Given the description of an element on the screen output the (x, y) to click on. 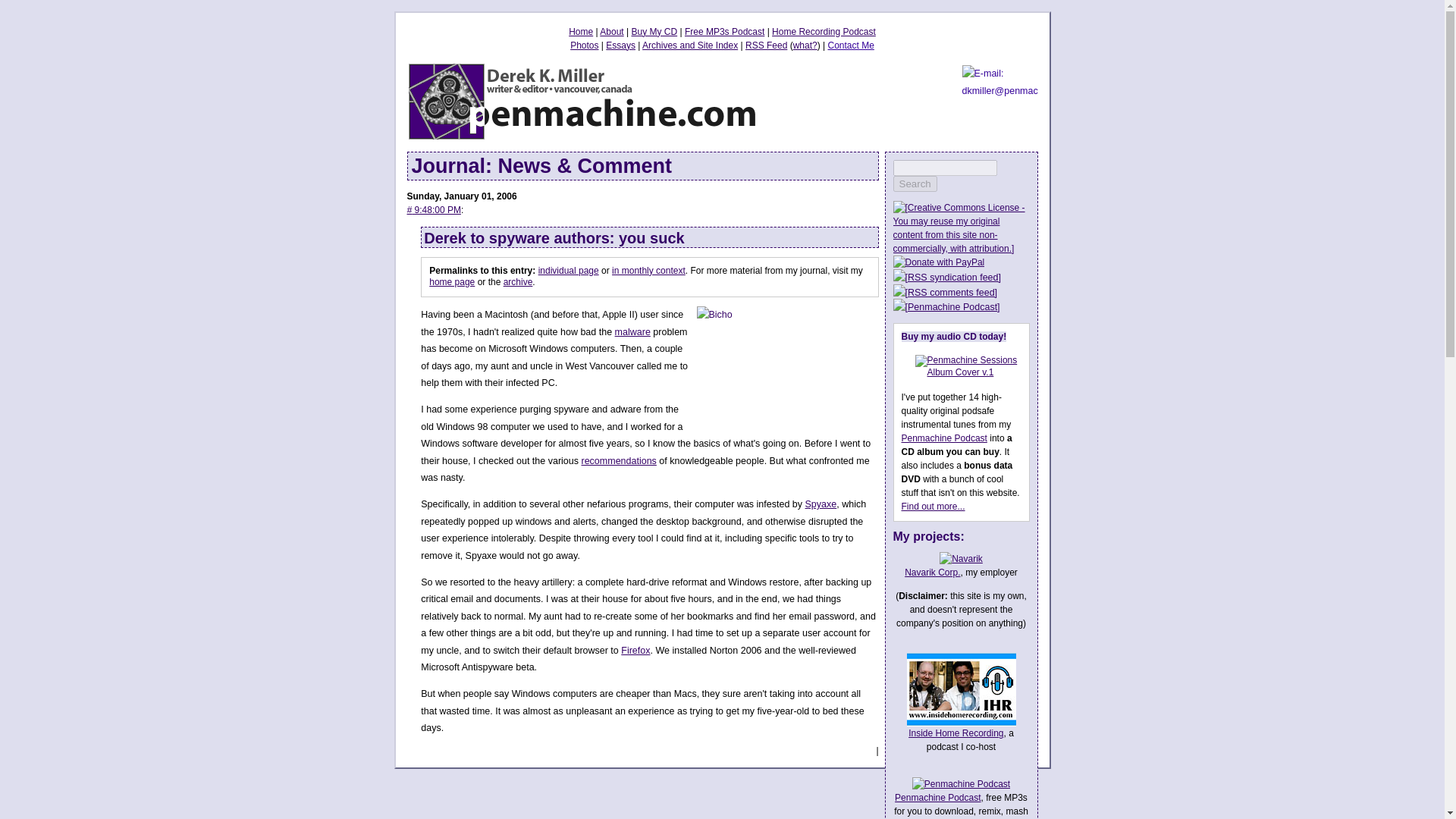
Archives and Site Index (690, 44)
Not-so-recent happenings. (690, 44)
Penmachine Podcast (937, 797)
Buy my audio CD today! (953, 336)
Search (915, 183)
Free podsafe instrumental songs. (724, 30)
Penmachine Podcast (944, 438)
Contact Me (851, 44)
What is an RSS feed? (804, 44)
Some of my photos. (584, 44)
Buy My CD (653, 30)
RSS Feed (766, 44)
Photos (584, 44)
Essays on technology, music, and so on. (619, 44)
RSS syndication feed (947, 276)
